Given the description of an element on the screen output the (x, y) to click on. 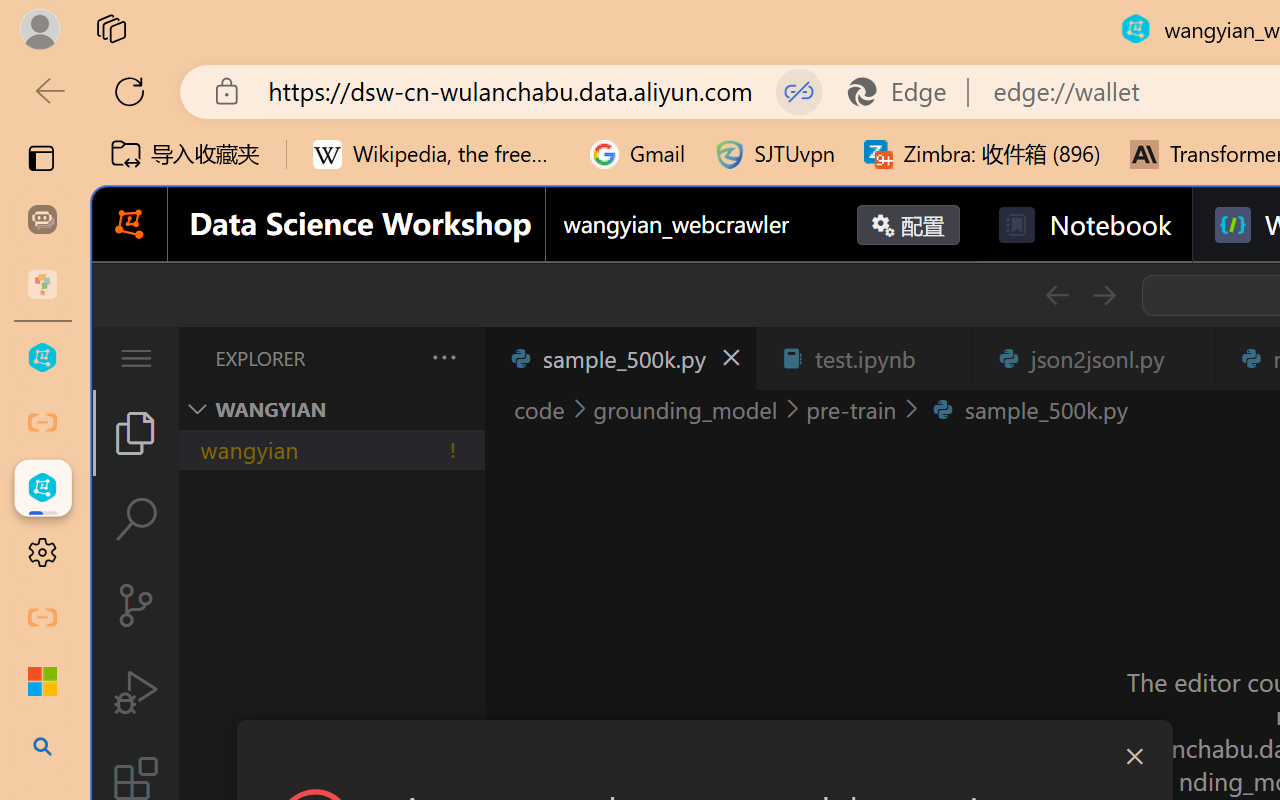
Run and Debug (Ctrl+Shift+D) (135, 692)
wangyian_dsw - DSW (42, 357)
Notebook (1083, 225)
Application Menu (135, 358)
Close (Ctrl+F4) (1188, 358)
